Given the description of an element on the screen output the (x, y) to click on. 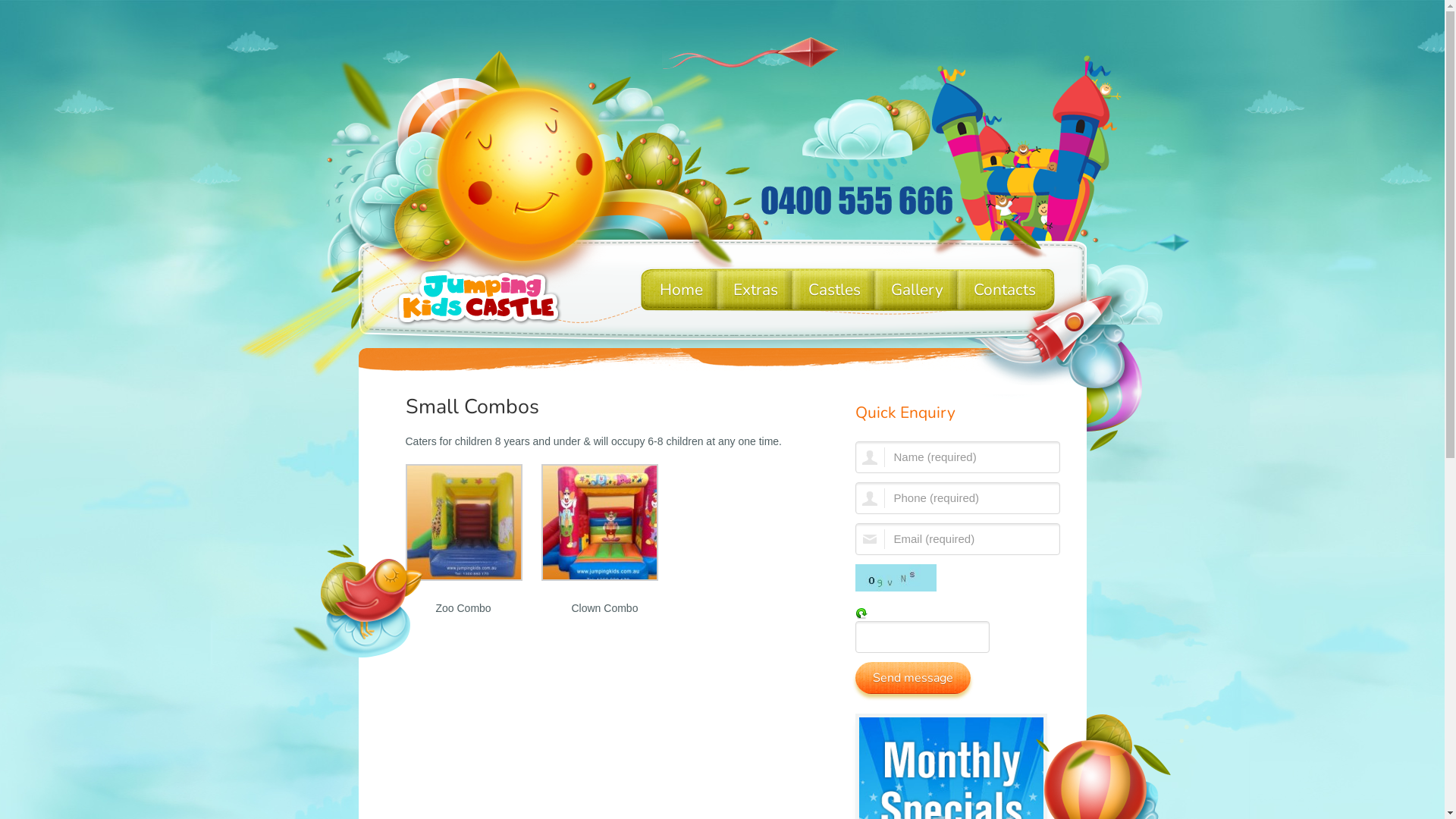
Castles Element type: text (834, 289)
Contacts Element type: text (1004, 289)
Home Element type: text (680, 289)
Gallery Element type: text (916, 289)
Extras Element type: text (754, 289)
Submit mesage Element type: hover (912, 677)
Send message Element type: text (912, 677)
